Given the description of an element on the screen output the (x, y) to click on. 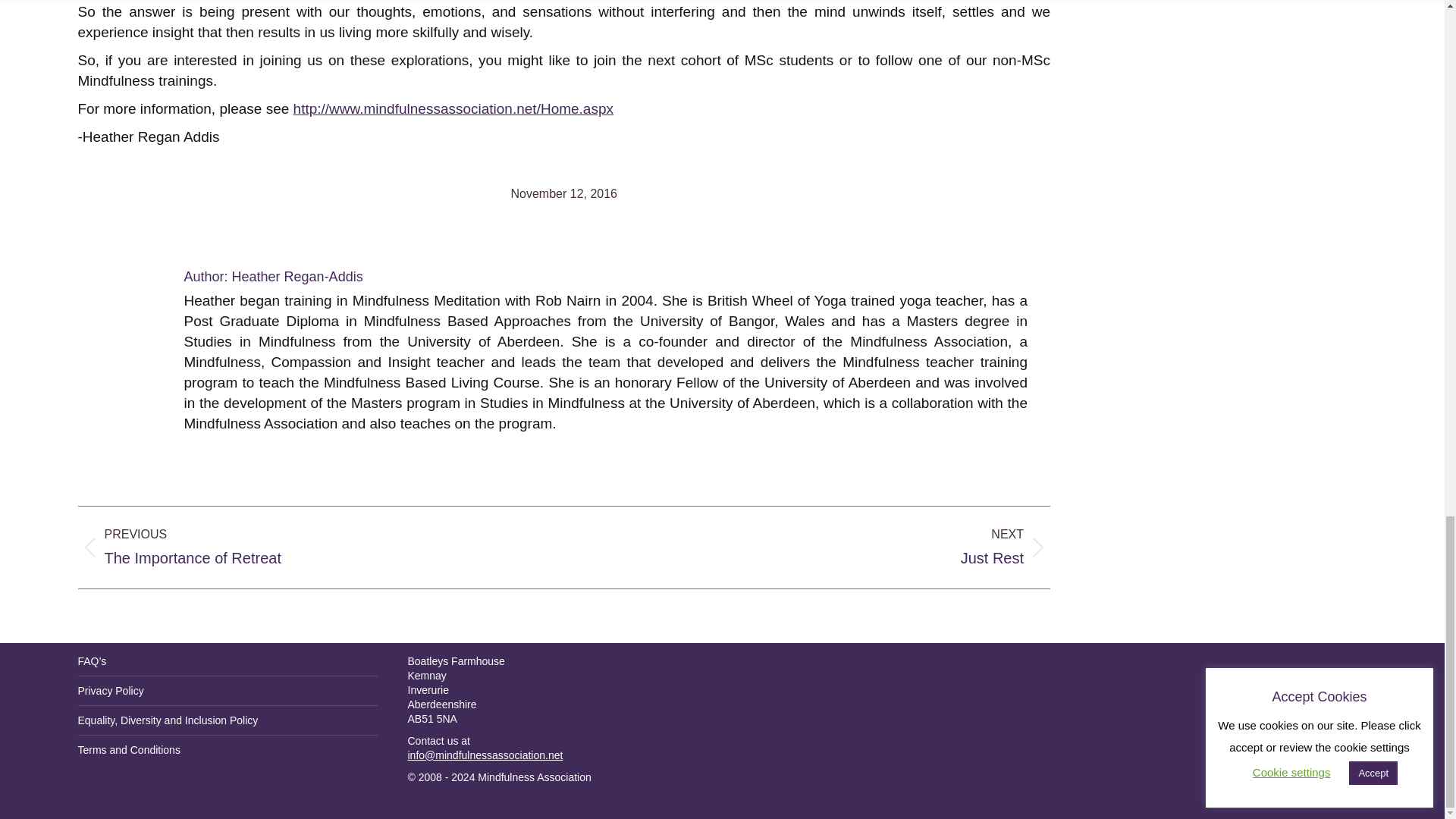
5:16 pm (564, 193)
